Given the description of an element on the screen output the (x, y) to click on. 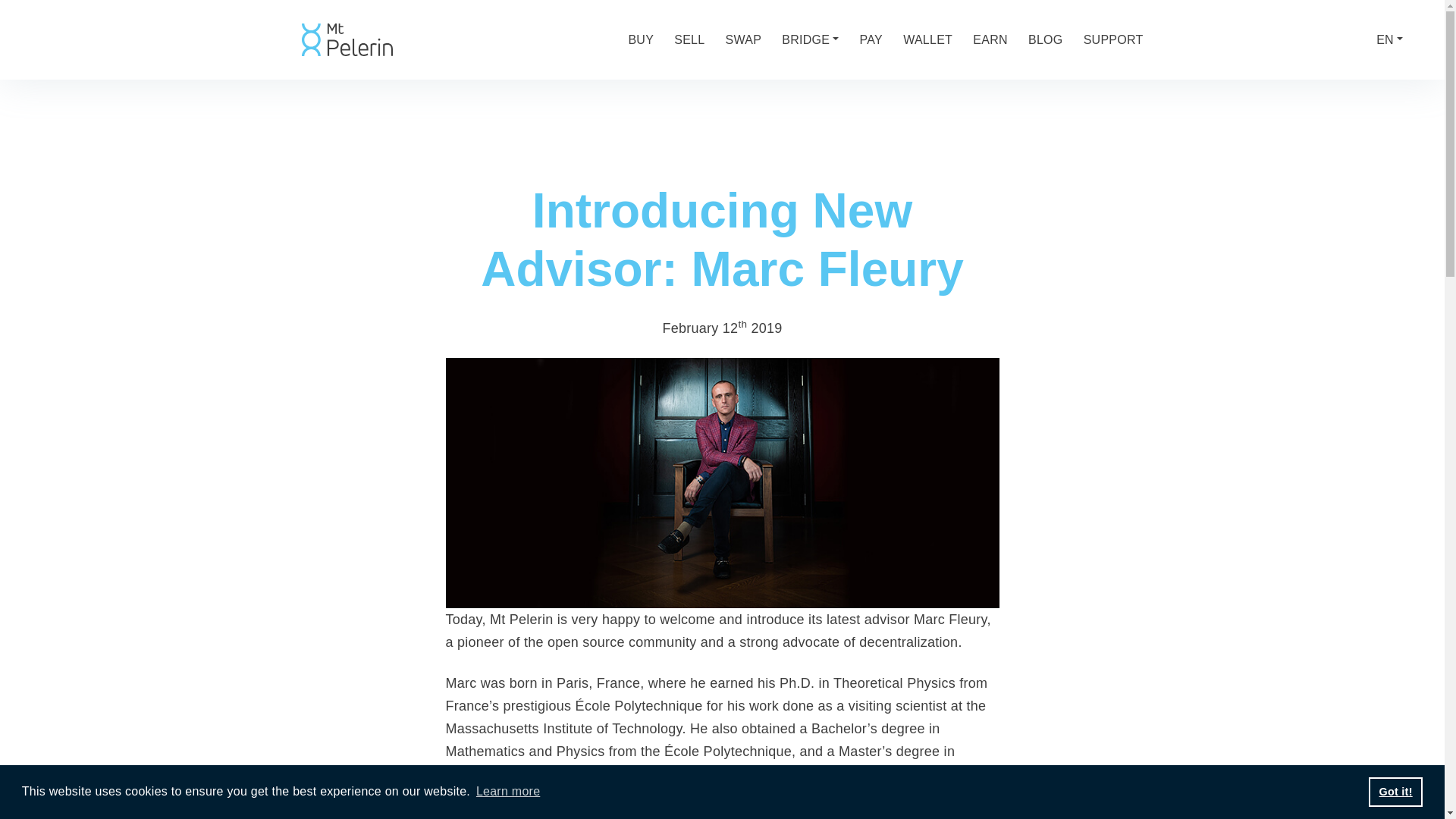
EARN (989, 39)
BLOG (1044, 39)
BUY (640, 39)
SWAP (743, 39)
SUPPORT (1112, 39)
WALLET (927, 39)
PAY (871, 39)
Learn more (508, 791)
SELL (689, 39)
Got it! (1395, 791)
EN (1389, 39)
BRIDGE (809, 39)
